Given the description of an element on the screen output the (x, y) to click on. 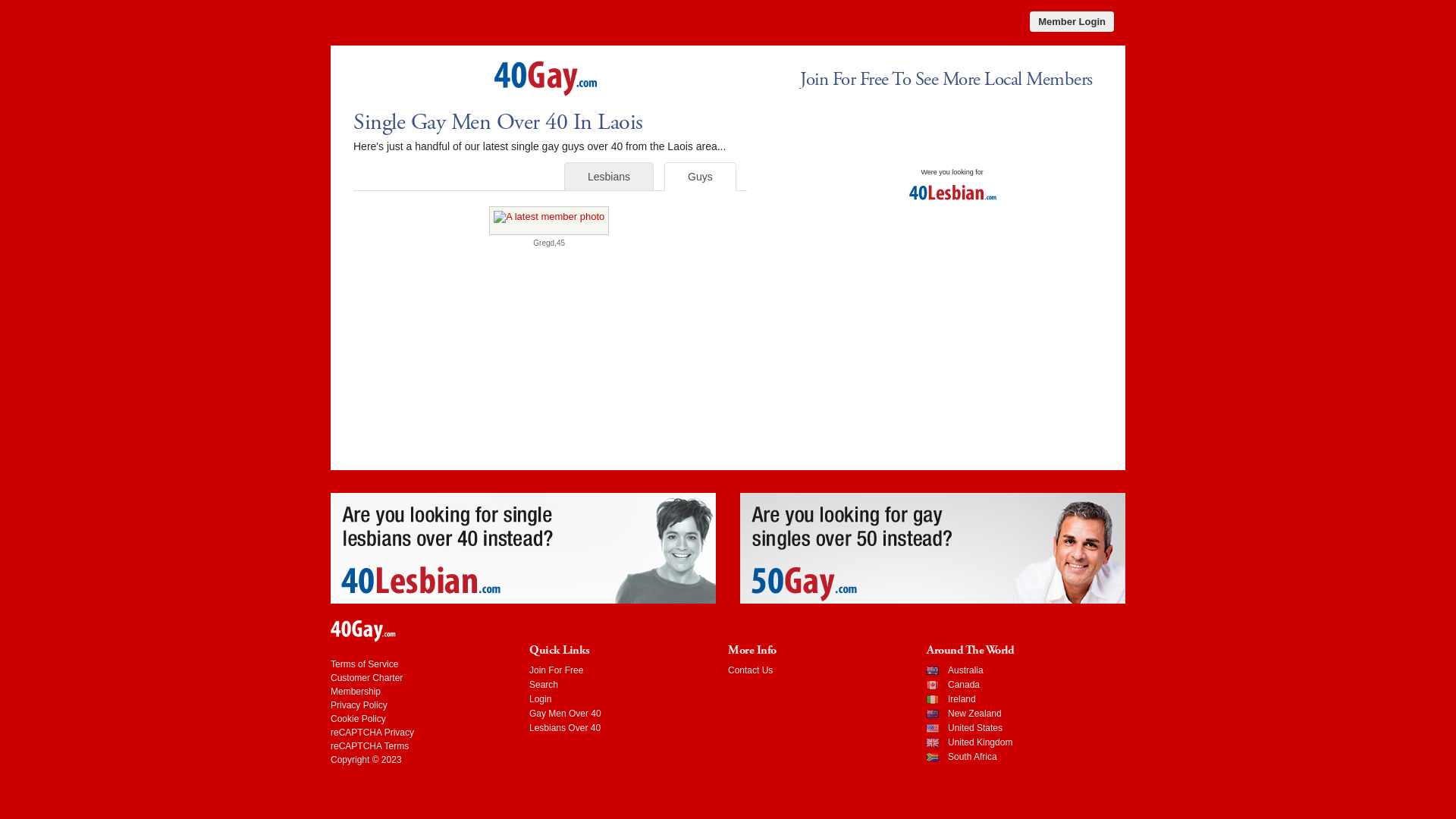
Search Element type: text (543, 684)
South Africa Element type: text (972, 756)
Ireland Element type: text (961, 698)
Privacy Policy Element type: text (358, 704)
United Kingdom Element type: text (979, 742)
Join For Free Element type: text (556, 670)
Member Login Element type: text (1071, 21)
United States Element type: text (974, 727)
reCAPTCHA Privacy Element type: text (372, 732)
New Zealand Element type: text (974, 713)
Contact Us Element type: text (750, 670)
Cookie Policy Element type: text (357, 718)
Australia Element type: text (965, 670)
Guys Element type: text (700, 176)
Lesbians Element type: text (608, 176)
Login Element type: text (540, 698)
Terms of Service Element type: text (364, 663)
Customer Charter Element type: text (366, 677)
Gay Men Over 40 Element type: text (565, 713)
Gregd, 45 from Portarlington, Laois Element type: hover (548, 220)
reCAPTCHA Terms Element type: text (369, 745)
Membership Element type: text (355, 691)
Lesbians Over 40 Element type: text (564, 727)
Canada Element type: text (963, 684)
